Given the description of an element on the screen output the (x, y) to click on. 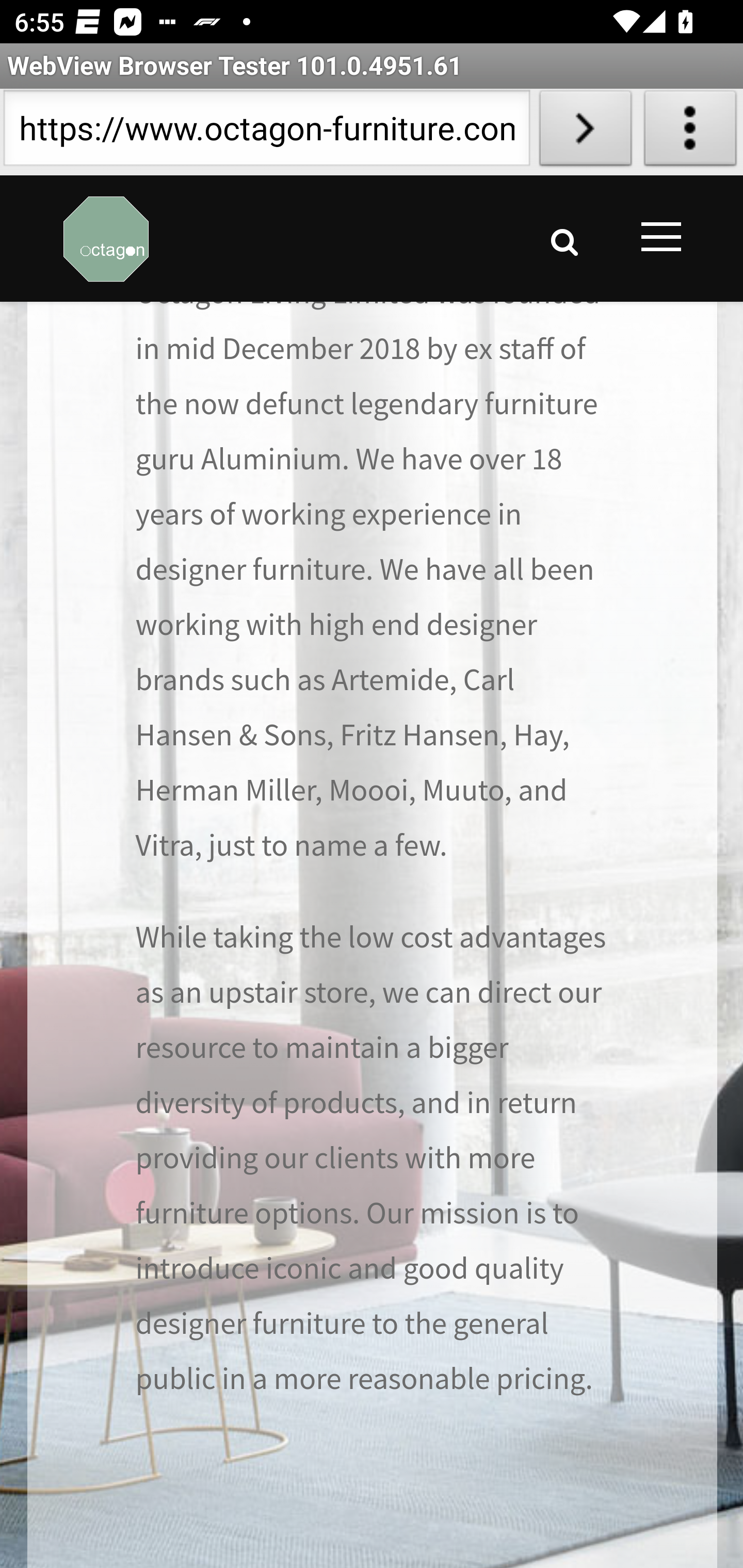
Load URL (585, 132)
About WebView (690, 132)
www.octagon-furniture (106, 238)
 (564, 241)
